Given the description of an element on the screen output the (x, y) to click on. 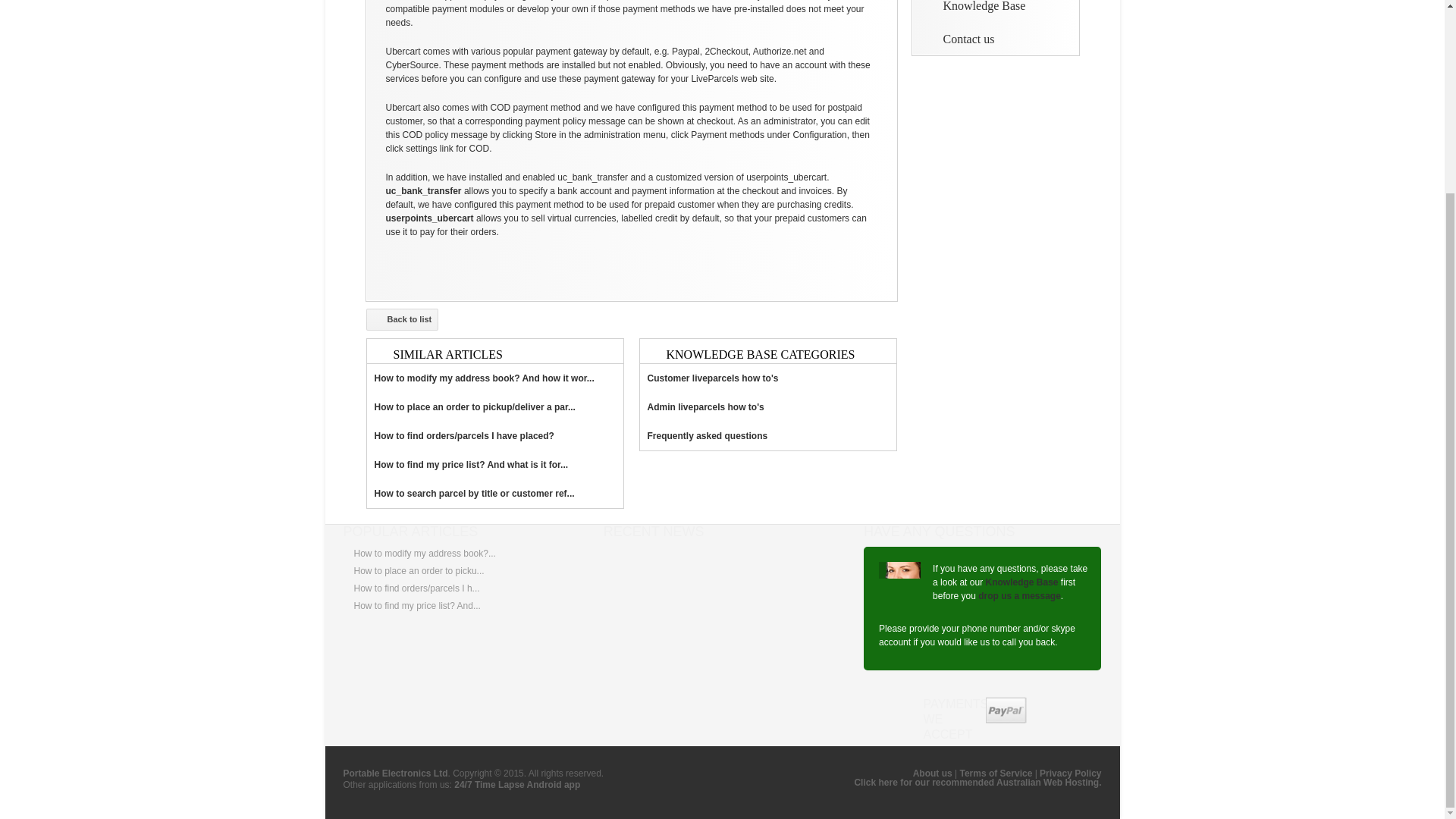
Customer liveparcels how to's (768, 378)
Privacy Policy (1069, 773)
drop us a message (1019, 595)
How to place an order to picku... (418, 570)
Frequently asked questions (768, 435)
Knowledge Base (1021, 582)
Userpoints ubercart (429, 217)
About us (932, 773)
How to find my price list? And... (416, 605)
Portable Electronics Ltd (394, 773)
How to search parcel by title or customer ref... (494, 493)
Knowledge Base (974, 6)
UC Bank transfer (423, 190)
Admin liveparcels how to's (768, 407)
How to modify my address book?... (424, 552)
